Given the description of an element on the screen output the (x, y) to click on. 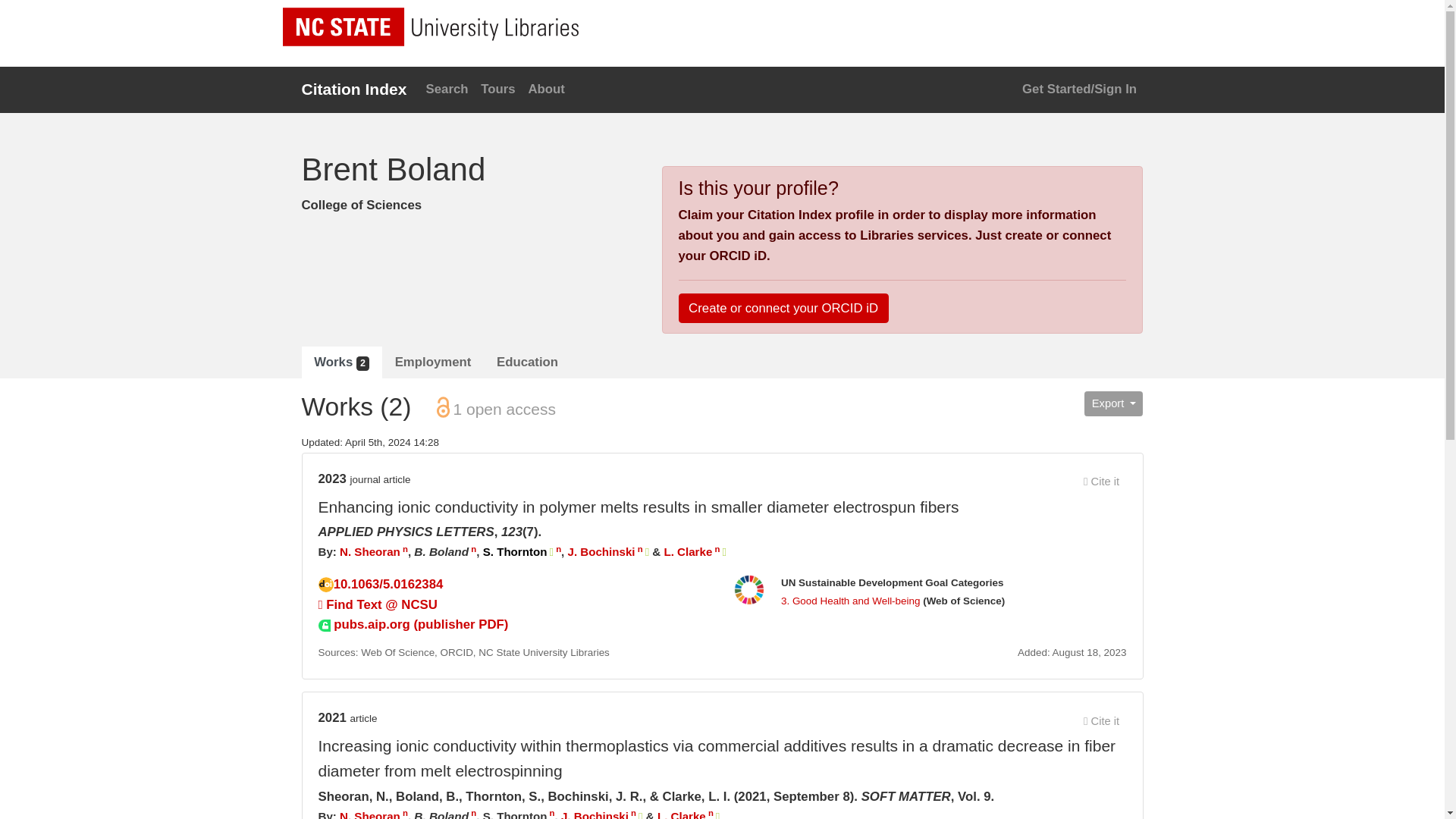
Cite it (1101, 481)
Export (1113, 403)
J. Bochinski (594, 814)
L. Clarke (682, 814)
Search for works related to SDG 3 (850, 600)
Works 2 (341, 363)
Search (446, 89)
About (545, 89)
J. Bochinski (600, 551)
L. Clarke (687, 551)
Create or connect your ORCID iD (783, 307)
N. Sheoran (369, 551)
